Given the description of an element on the screen output the (x, y) to click on. 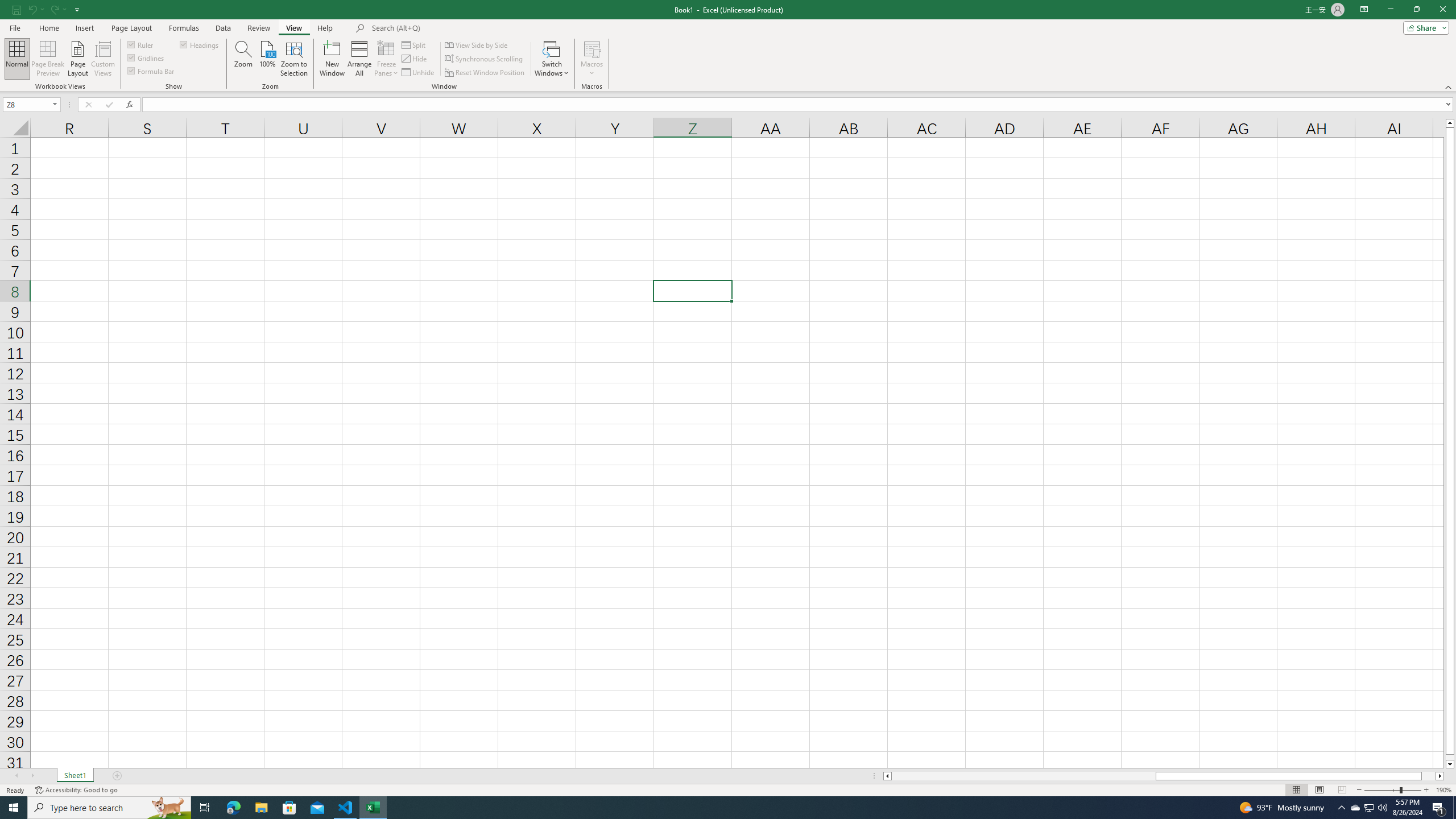
Macros (591, 58)
Ruler (141, 44)
